Given the description of an element on the screen output the (x, y) to click on. 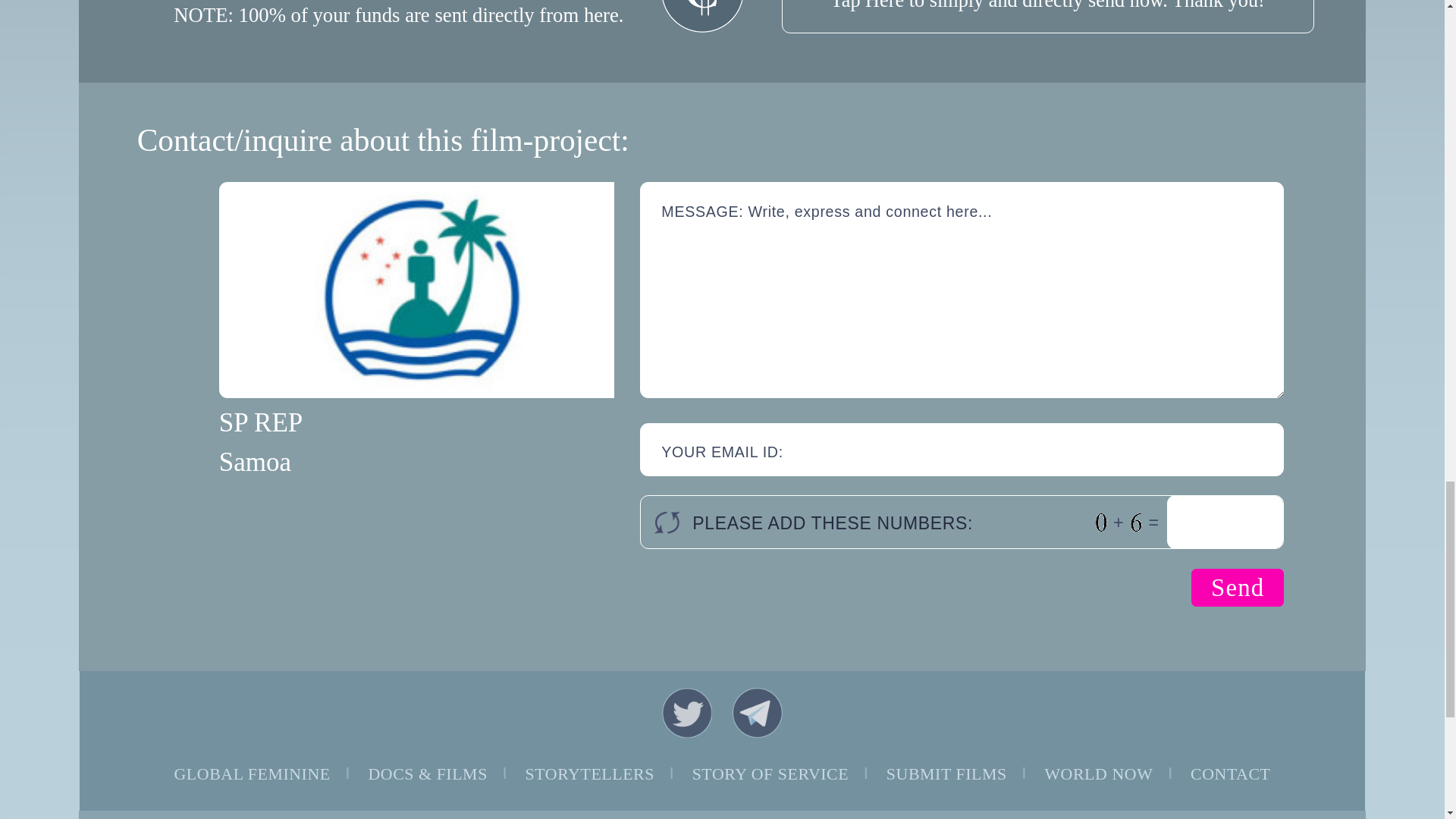
Send (1237, 587)
Refresh Captcha (666, 521)
